Given the description of an element on the screen output the (x, y) to click on. 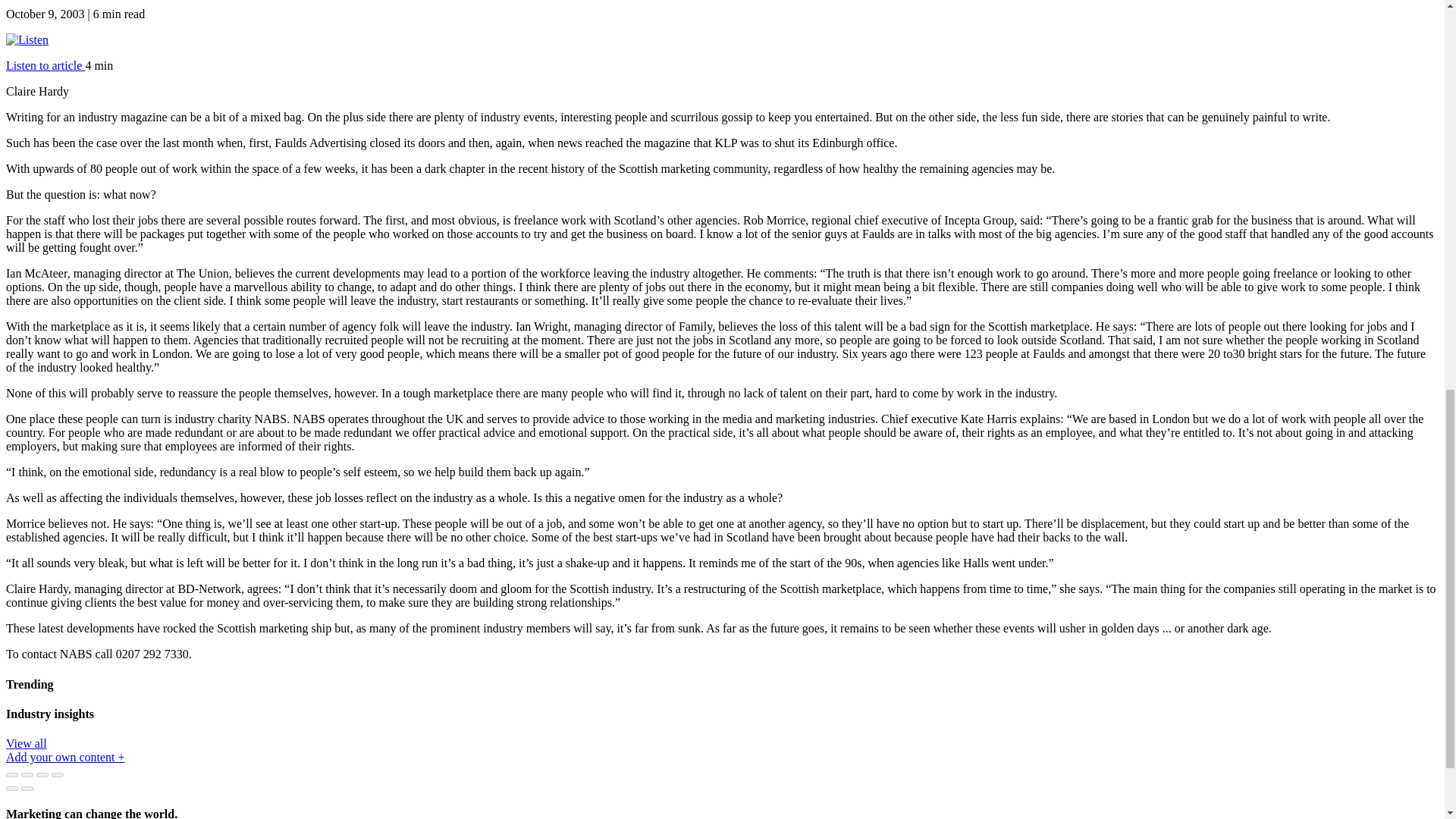
Listen to article (44, 65)
Toggle fullscreen (42, 775)
View all (25, 743)
Share (27, 775)
